Given the description of an element on the screen output the (x, y) to click on. 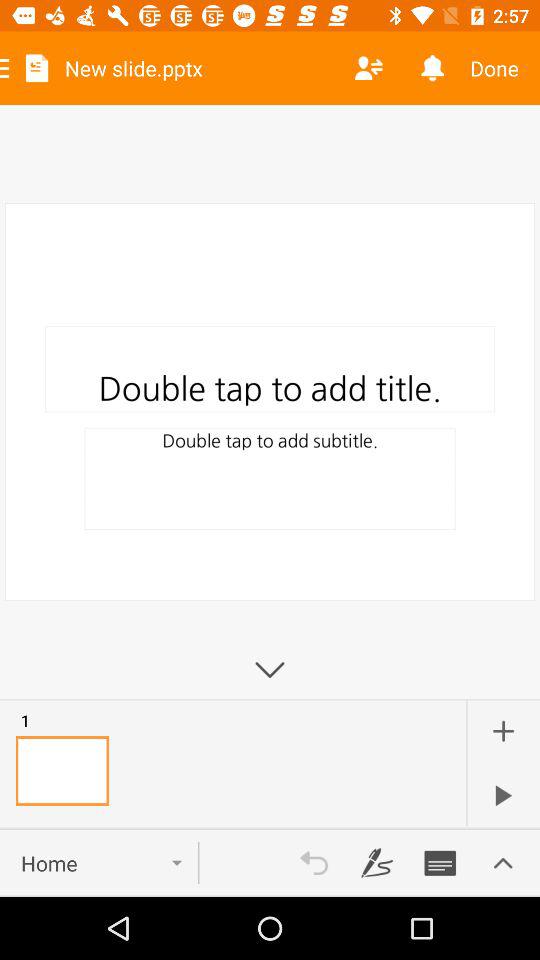
toggle more options (503, 863)
